Given the description of an element on the screen output the (x, y) to click on. 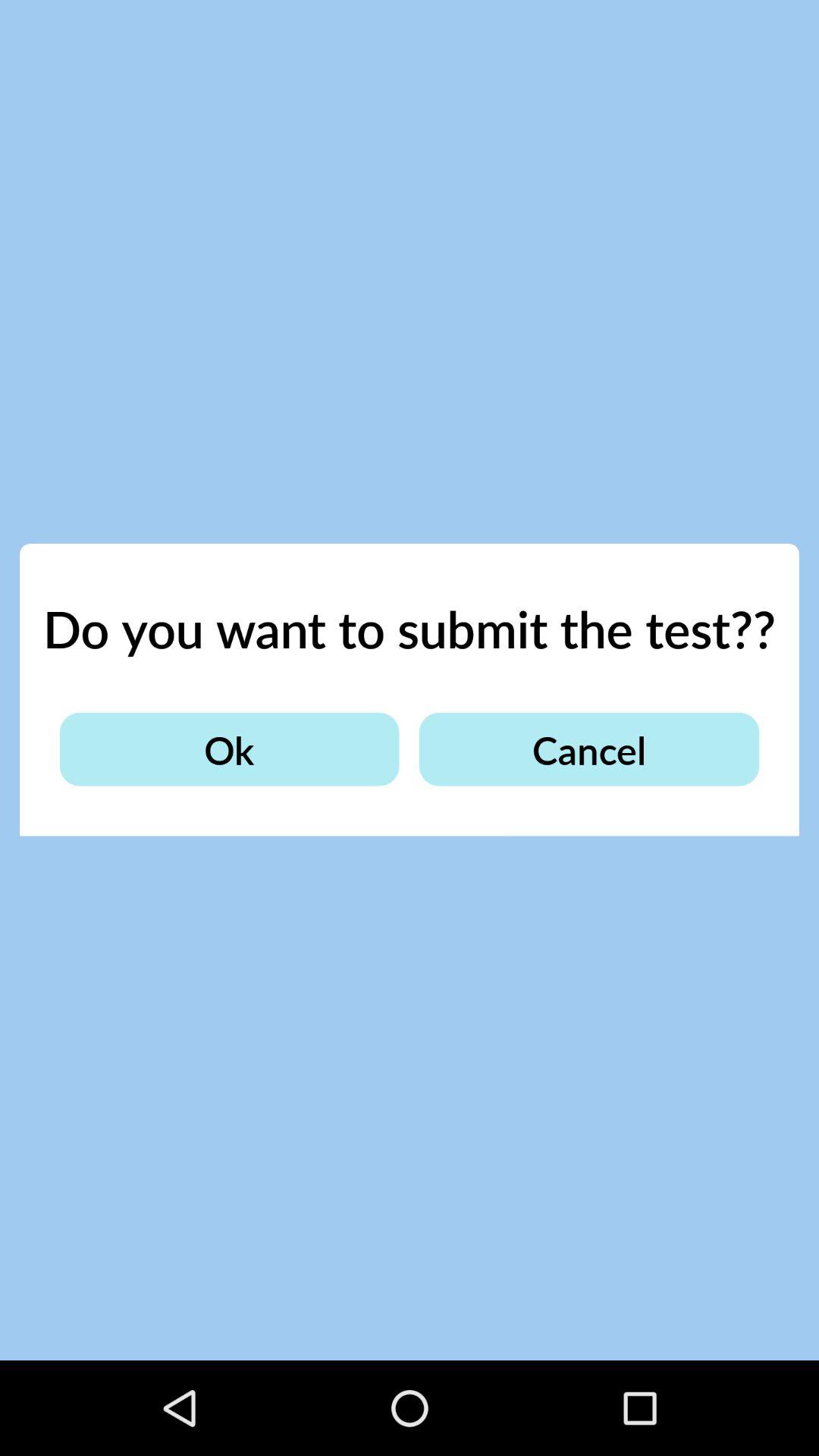
press the ok on the left (229, 749)
